Given the description of an element on the screen output the (x, y) to click on. 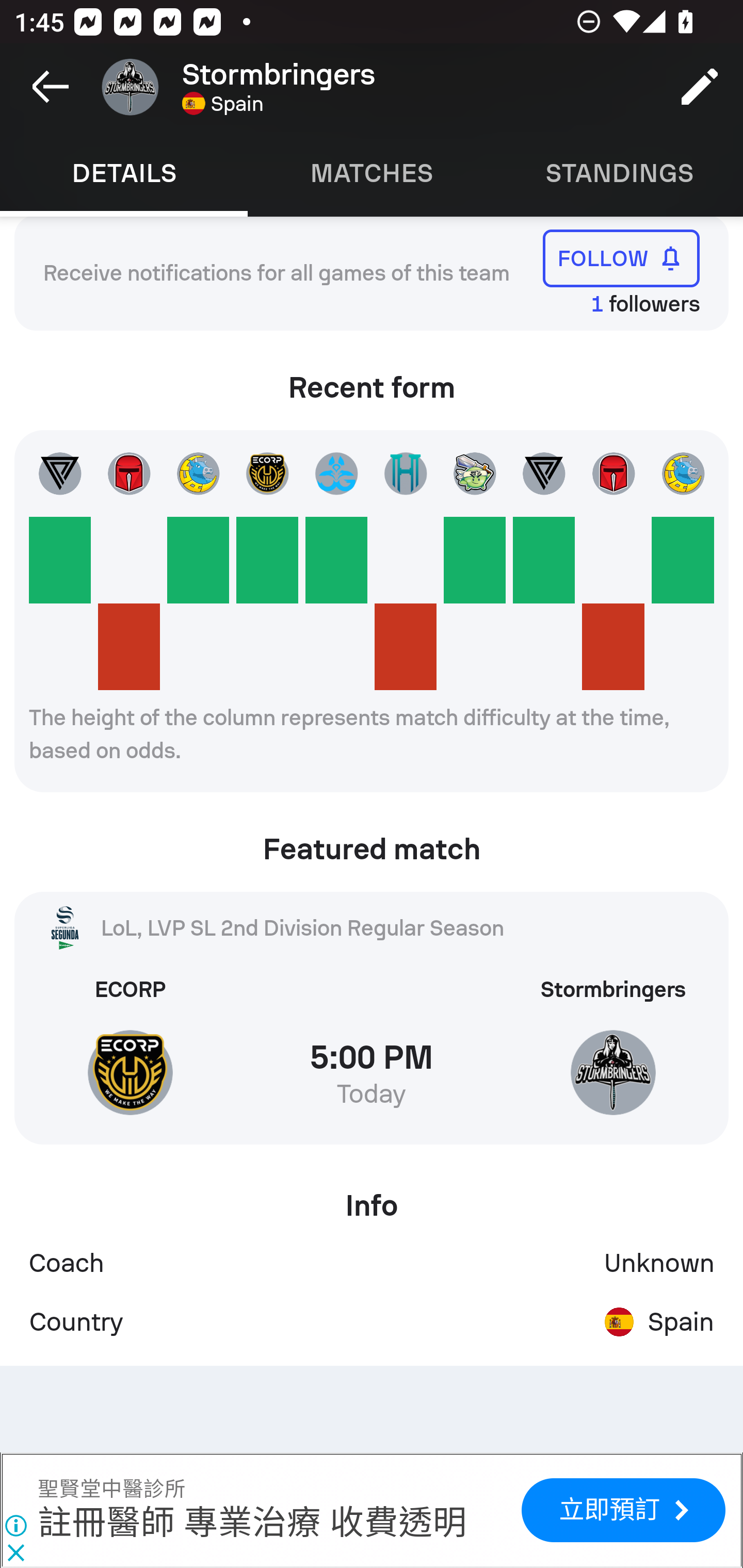
Navigate up (50, 86)
Edit (699, 86)
Matches MATCHES (371, 173)
Standings STANDINGS (619, 173)
FOLLOW (621, 257)
聖賢堂中醫診所 (111, 1489)
立即預訂 (623, 1510)
註冊醫師 專業治療 收費透明 (252, 1523)
